Given the description of an element on the screen output the (x, y) to click on. 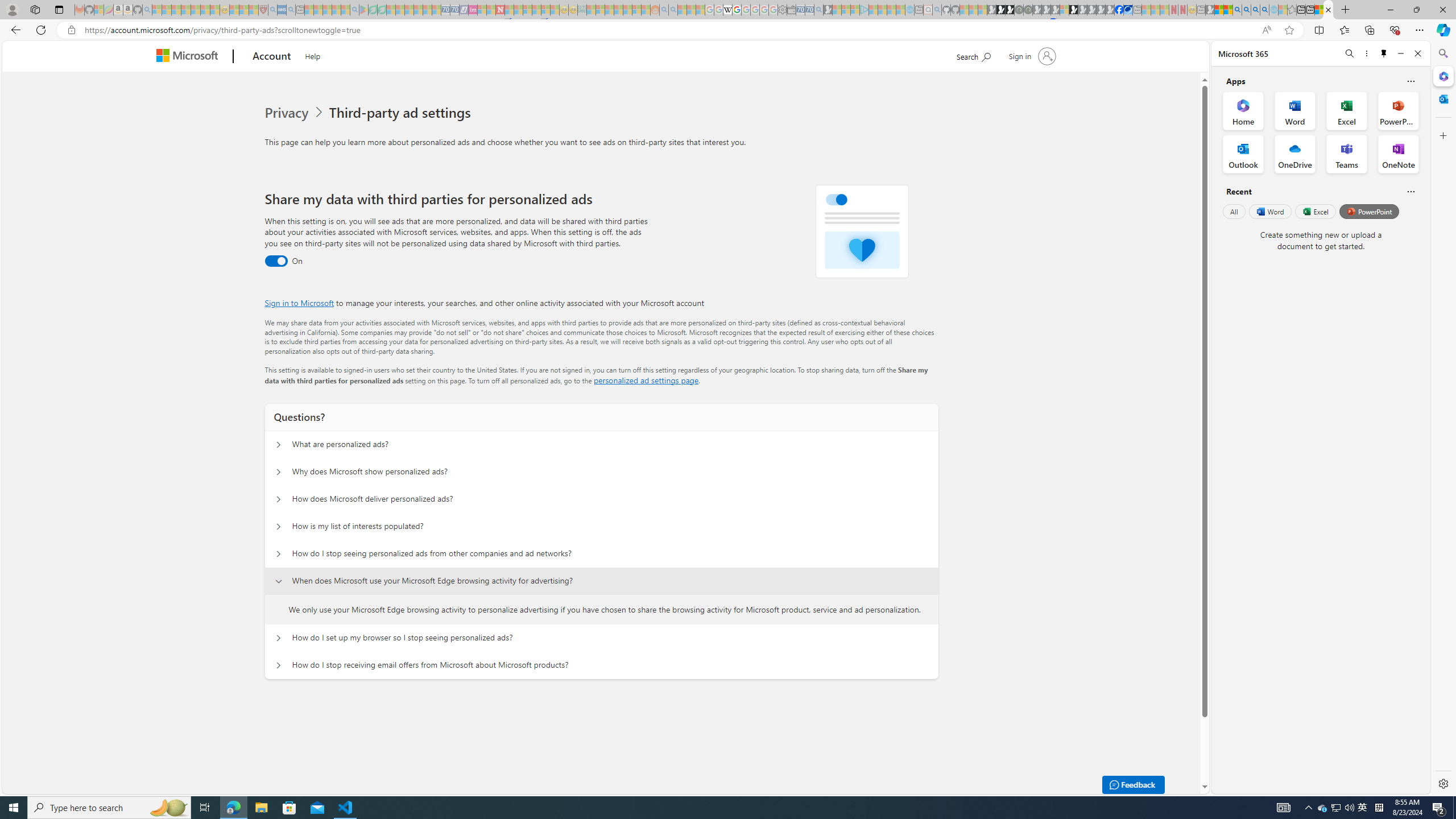
MSN - Sleeping (1210, 9)
Terms of Use Agreement - Sleeping (372, 9)
Questions? What are personalized ads? (278, 444)
google - Search - Sleeping (354, 9)
Search Microsoft.com (972, 54)
Play Zoo Boom in your browser | Games from Microsoft Start (1000, 9)
Expert Portfolios - Sleeping (617, 9)
PowerPoint (1369, 210)
